Given the description of an element on the screen output the (x, y) to click on. 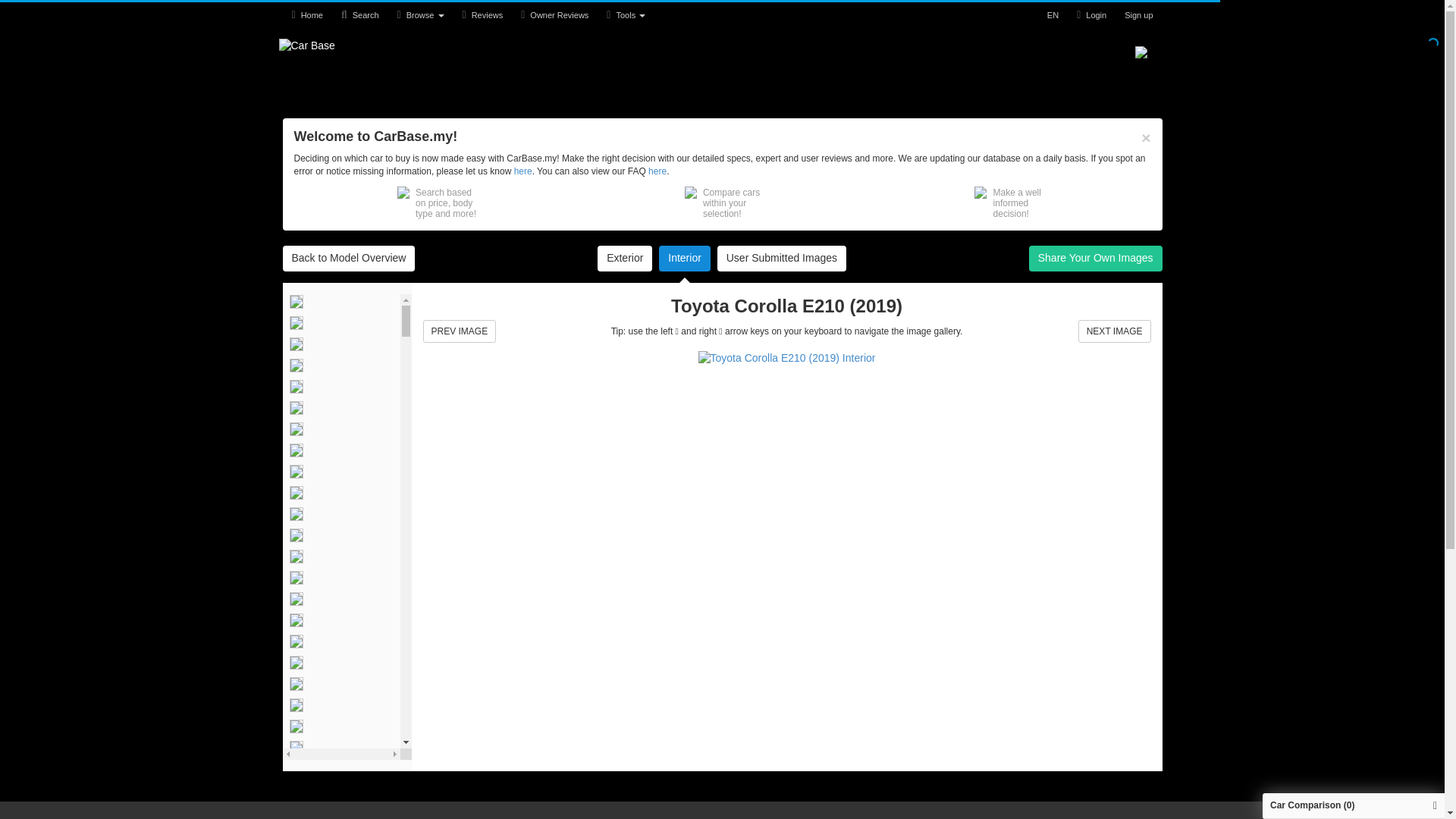
Browse (420, 15)
Reviews (482, 15)
Search Car (359, 15)
Home (306, 15)
Car Base Home Page (306, 15)
Browse Car By (420, 15)
Search (359, 15)
Owner Reviews (554, 15)
